Given the description of an element on the screen output the (x, y) to click on. 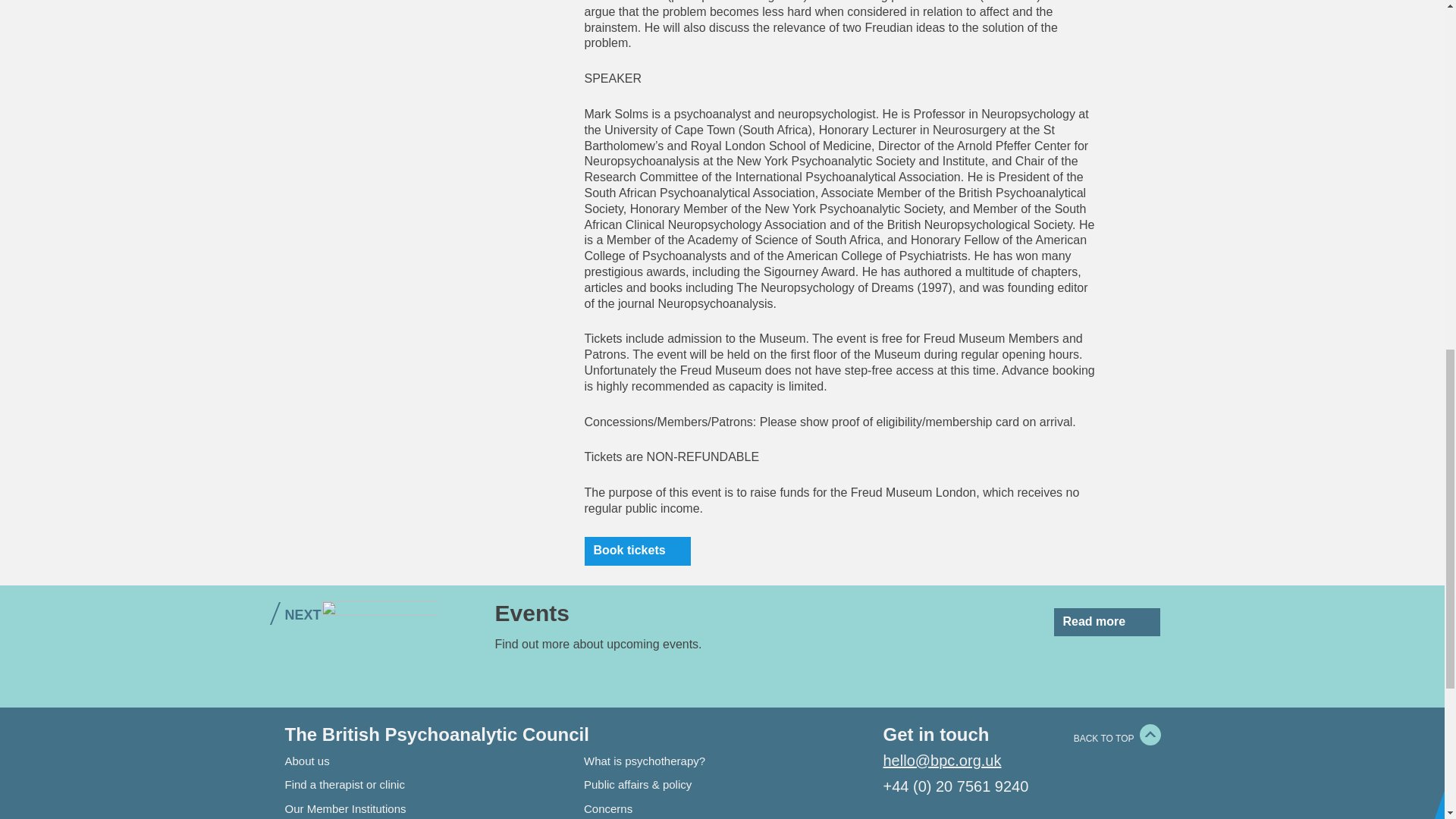
Find a therapist or clinic (344, 784)
Read more (1107, 622)
Book tickets (636, 551)
About us (307, 760)
Our Member Institutions (345, 808)
Concerns (607, 808)
What is psychotherapy? (643, 760)
BACK TO TOP (1104, 738)
